Given the description of an element on the screen output the (x, y) to click on. 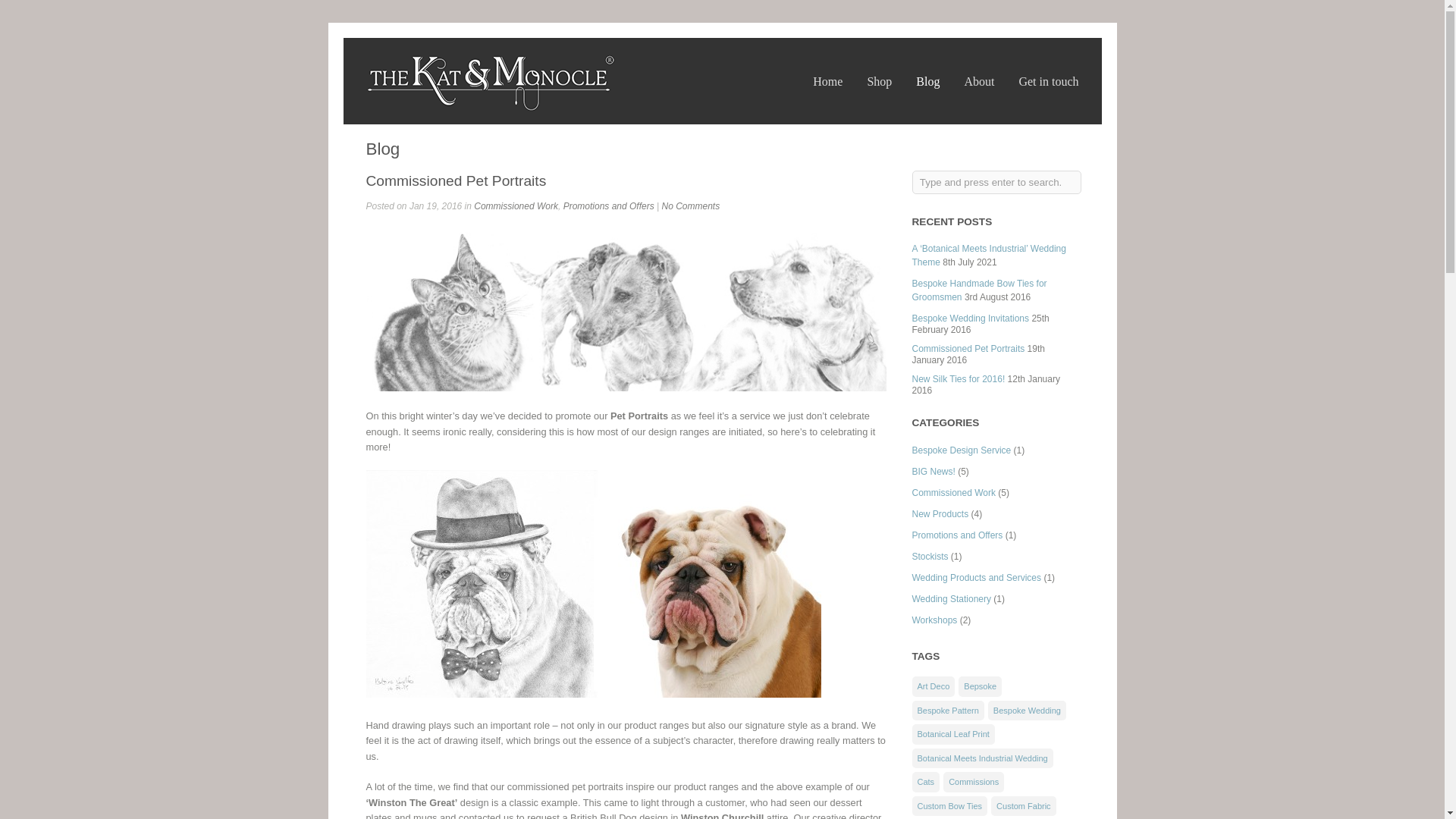
Blog (927, 81)
Get in touch (1047, 81)
Commissioned Pet Portraits (455, 180)
Home (827, 81)
Shop (878, 81)
Type and press enter to search. (995, 182)
Bespoke Handmade Bow Ties for Groomsmen (978, 290)
Commissioned Pet Portraits (625, 311)
Promotions and Offers (608, 205)
About (978, 81)
